Given the description of an element on the screen output the (x, y) to click on. 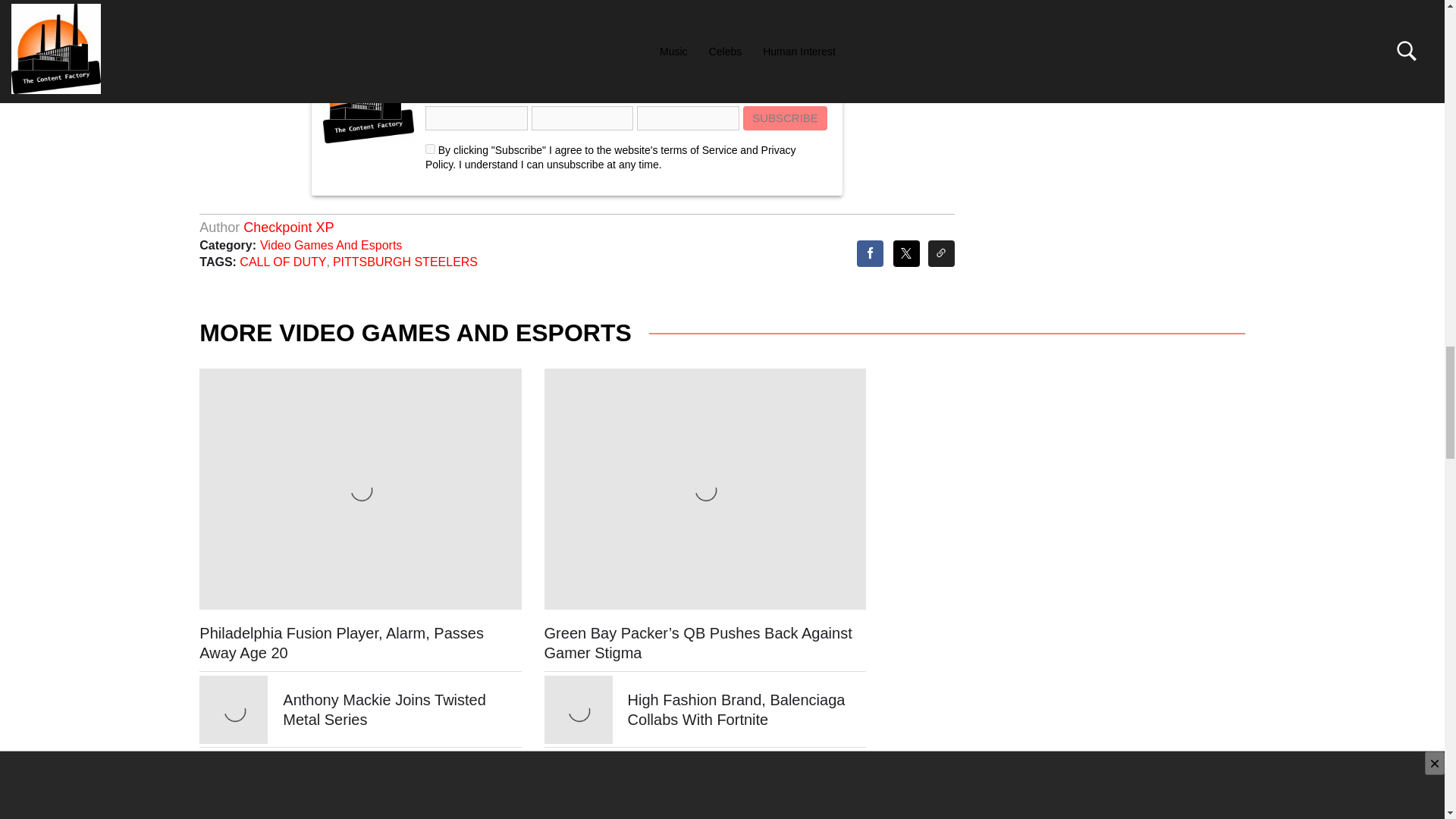
CALL OF DUTY (283, 261)
Checkpoint XP (288, 227)
Philadelphia Fusion Player, Alarm, Passes Away Age 20 (341, 642)
SUBSCRIBE (784, 118)
on (430, 148)
Video Games And Esports (328, 245)
Checkpoint XP (288, 227)
PITTSBURGH STEELERS (405, 261)
